Given the description of an element on the screen output the (x, y) to click on. 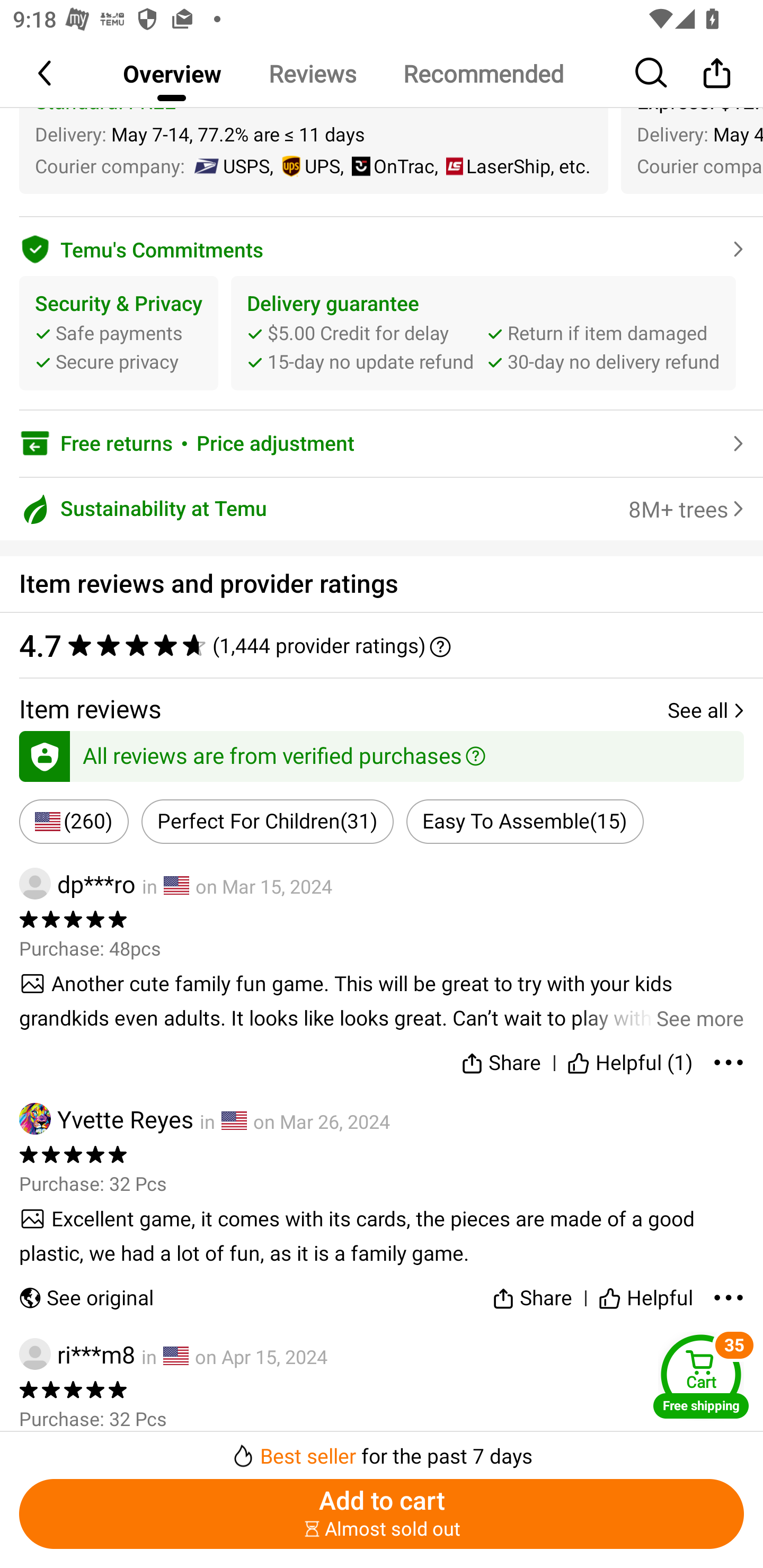
Overview (171, 72)
Reviews (311, 72)
Recommended (482, 72)
Back (46, 72)
Share (716, 72)
Temu's Commitments (381, 246)
Security & Privacy Safe payments Secure privacy (118, 332)
Free returns￼Price adjustment (381, 443)
Sustainability at Temu 8M+ trees (381, 509)
4.7 ‪(1,444 provider ratings) (371, 645)
All reviews are from verified purchases  (381, 753)
(260) (73, 821)
Perfect For Children(31) (267, 821)
Easy To Assemble(15) (524, 821)
dp***ro (77, 883)
See more (381, 1000)
  Share (500, 1058)
  Helpful (1) (629, 1058)
Yvette Reyes (106, 1118)
  See original (86, 1293)
  Share (532, 1293)
  Helpful (645, 1293)
Cart Free shipping Cart (701, 1375)
ri***m8 (77, 1353)
￼￼Best seller for the past 7 days (381, 1450)
Add to cart ￼￼Almost sold out (381, 1513)
